Given the description of an element on the screen output the (x, y) to click on. 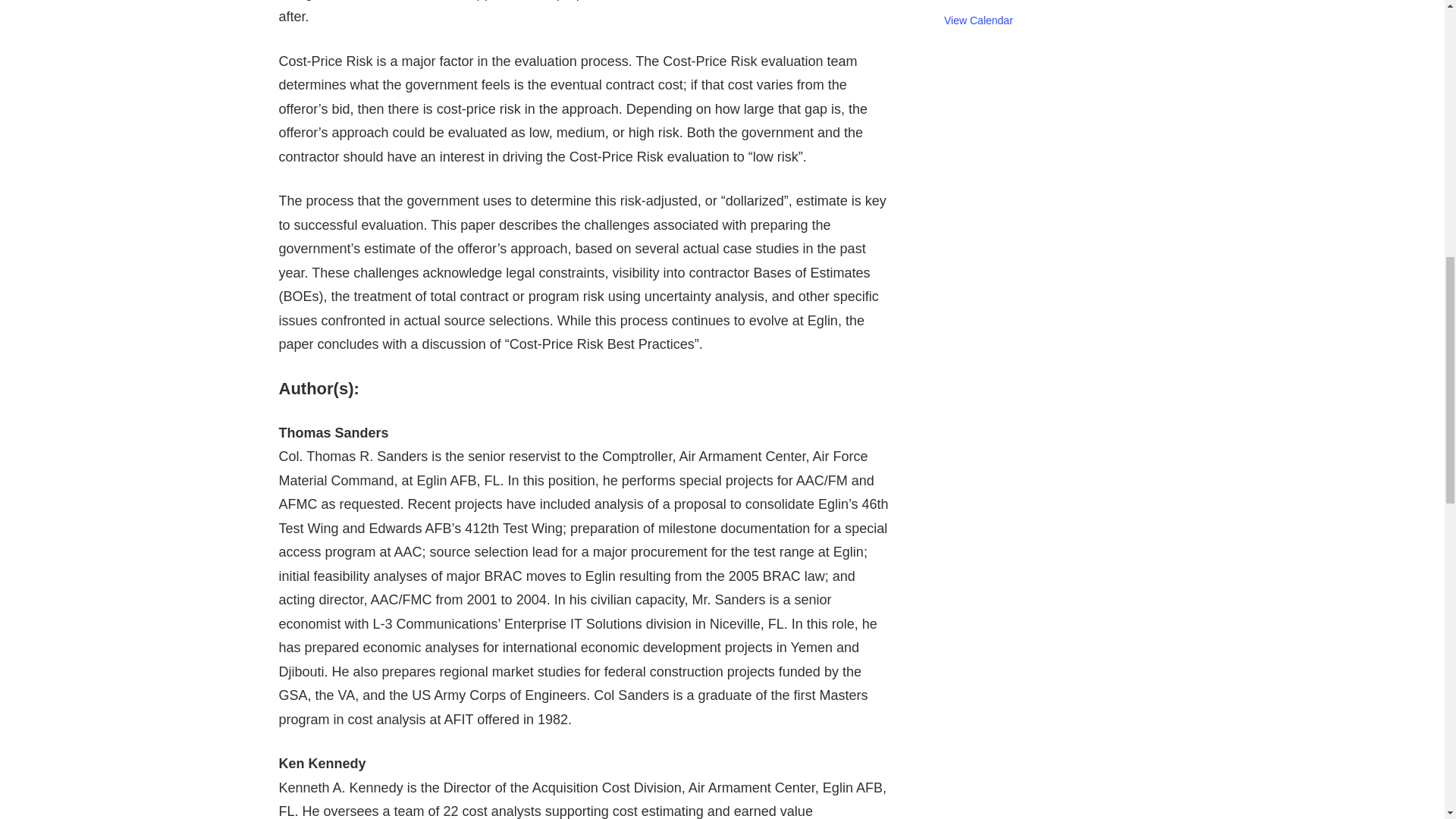
View more events. (978, 20)
